Given the description of an element on the screen output the (x, y) to click on. 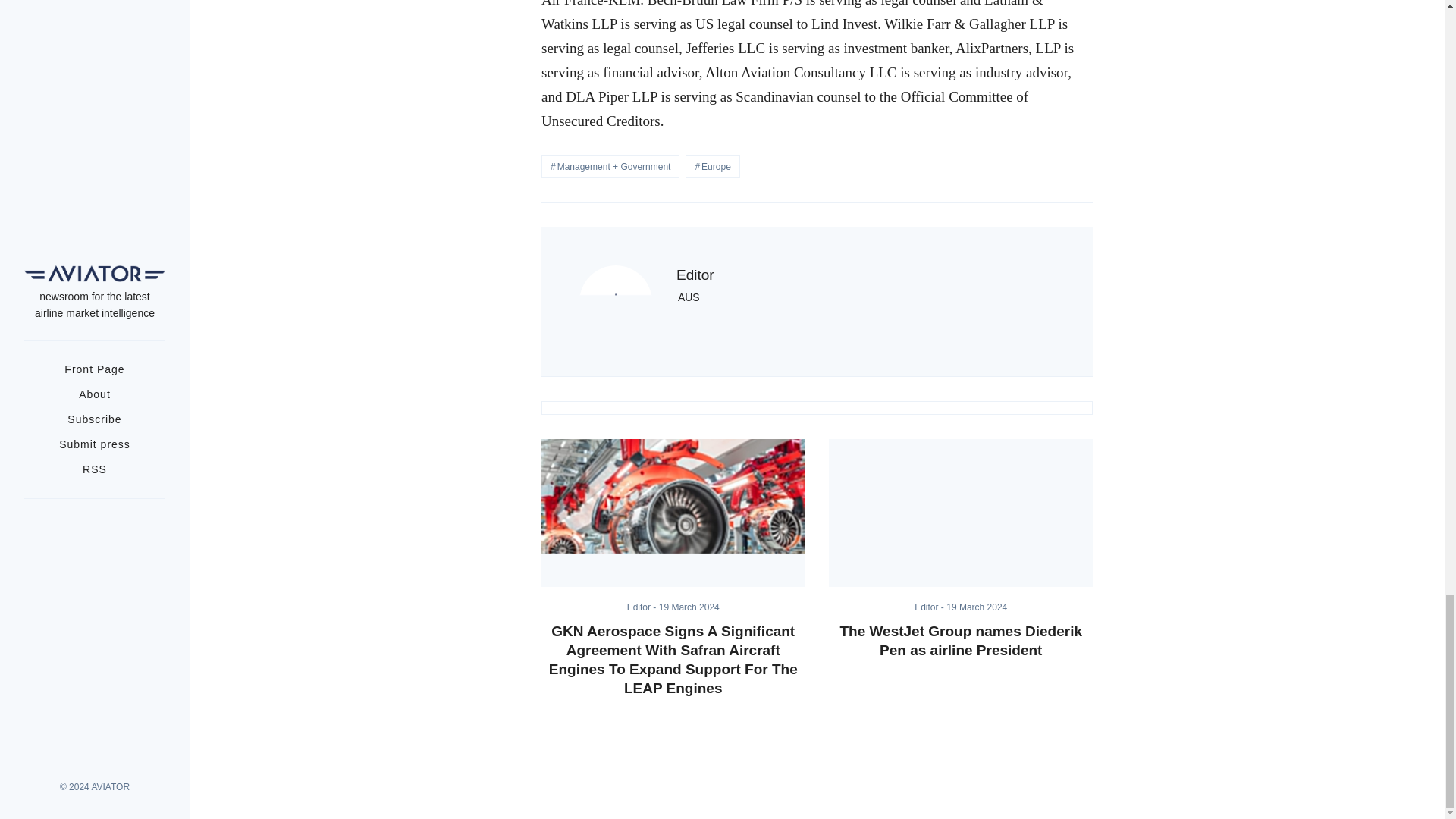
The WestJet Group names Diederik Pen as airline President (960, 640)
Share on Facebook (954, 408)
Editor (930, 606)
Editor (695, 274)
The WestJet Group names Diederik Pen as airline President (960, 512)
Share on Twitter (678, 408)
Editor - (643, 606)
Editor (643, 606)
The WestJet Group names Diederik Pen as airline President (960, 640)
Europe (712, 166)
Editor - (930, 606)
